Given the description of an element on the screen output the (x, y) to click on. 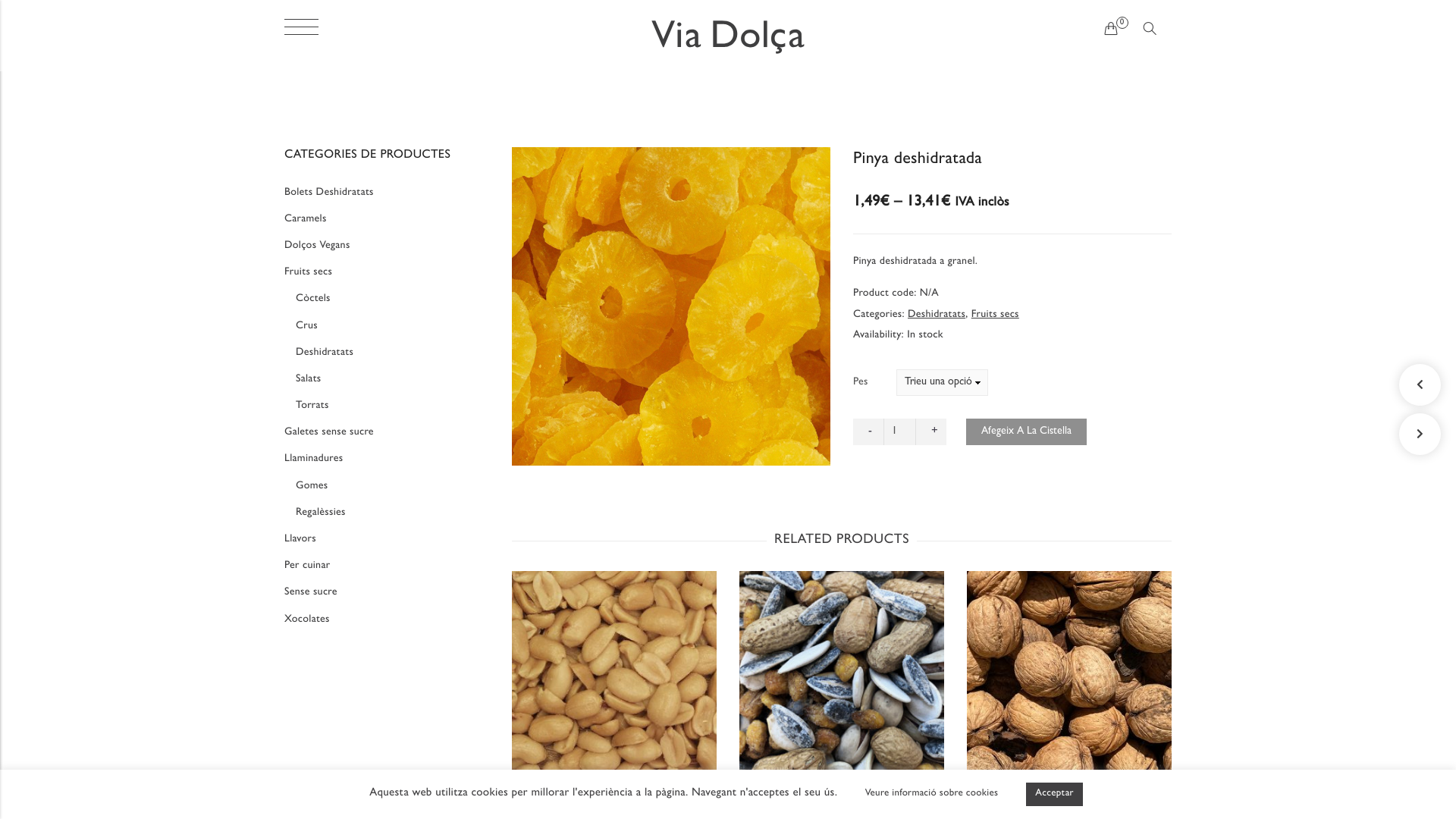
Acceptar Element type: text (1054, 794)
Llavors Element type: text (300, 540)
Crus Element type: text (306, 326)
Deshidratats Element type: text (936, 315)
0 Element type: text (1111, 29)
Salats Element type: text (307, 380)
Per cuinar Element type: text (306, 566)
Qty Element type: hover (899, 431)
Xocolates Element type: text (306, 620)
Fruits secs Element type: text (995, 315)
Caramels Element type: text (305, 220)
Deshidratats Element type: text (324, 353)
Afegeix A La Cistella Element type: text (1026, 431)
Cacauet Salat Element type: text (613, 798)
+ Element type: text (931, 431)
Gomes Element type: text (311, 486)
Fruits secs Element type: text (308, 273)
Nous amb closca Element type: text (1068, 798)
- Element type: text (868, 431)
Llaminadures Element type: text (313, 459)
Galetes sense sucre Element type: text (328, 433)
Bolets Deshidratats Element type: text (328, 193)
Torrats Element type: text (312, 406)
Sense sucre Element type: text (310, 593)
